Given the description of an element on the screen output the (x, y) to click on. 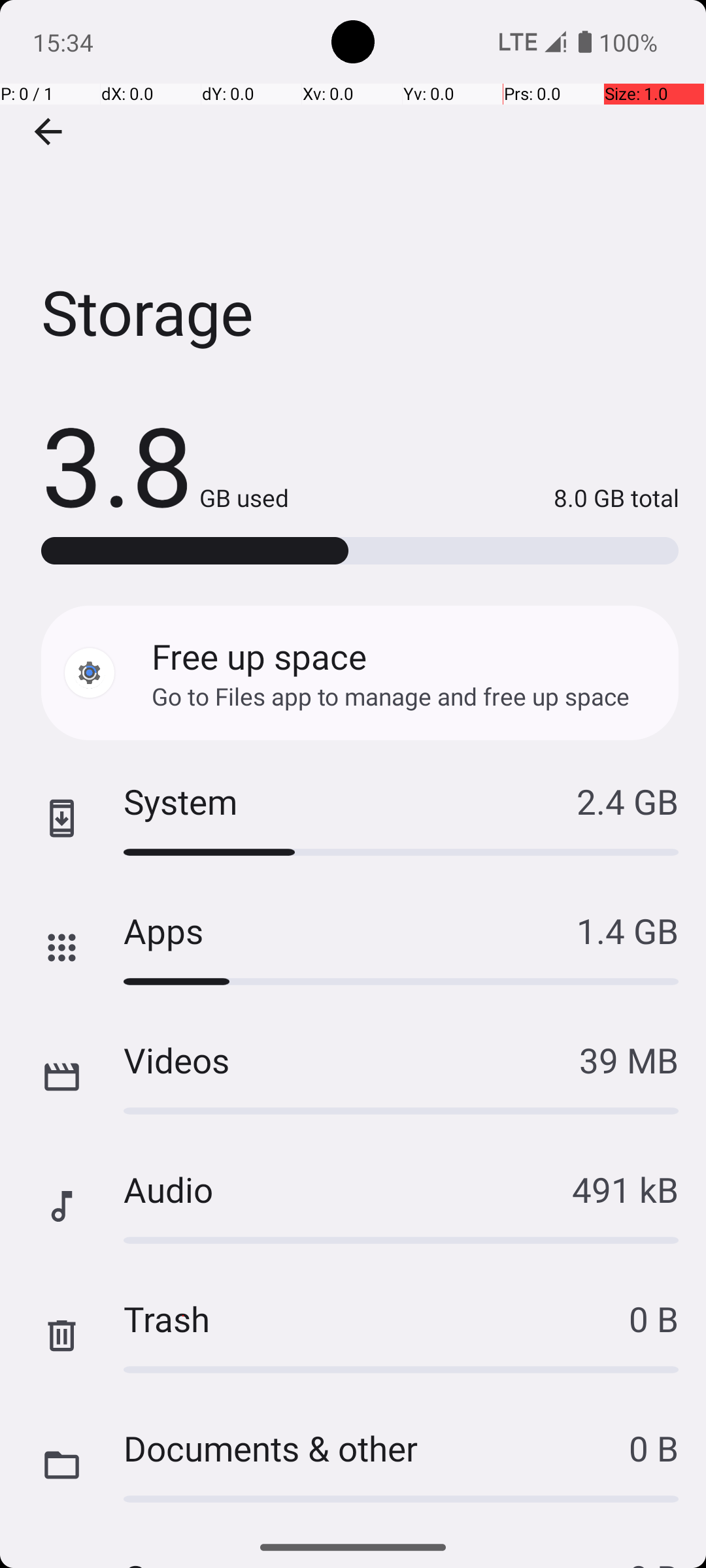
3.8 GB used Element type: android.widget.TextView (164, 463)
2.4 GB Element type: android.widget.TextView (627, 801)
1.4 GB Element type: android.widget.TextView (627, 930)
39 MB Element type: android.widget.TextView (628, 1059)
491 kB Element type: android.widget.TextView (624, 1189)
